Given the description of an element on the screen output the (x, y) to click on. 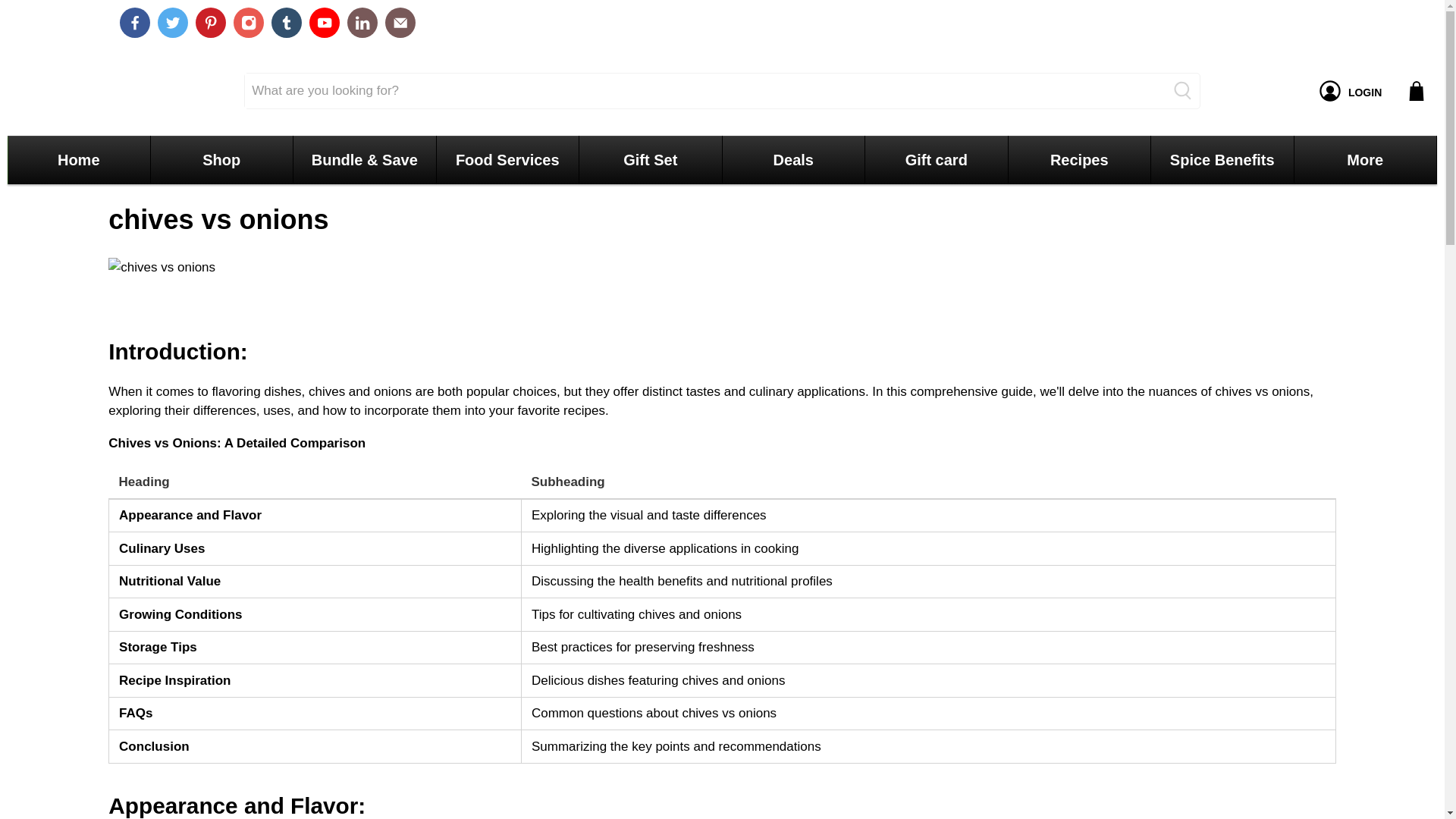
iSpice You on YouTube (323, 22)
iSpice You on Tumblr (285, 22)
Shop (221, 159)
iSpice You on LinkedIn (362, 22)
Email iSpice You (399, 22)
iSpice You on Twitter (172, 22)
Recipes (1079, 159)
Home (78, 159)
iSpice You on Instagram (247, 22)
iSpice You on Pinterest (210, 22)
iSpice You (77, 90)
Deals (793, 159)
More (1365, 159)
Gift card (935, 159)
Gift Set (649, 159)
